Given the description of an element on the screen output the (x, y) to click on. 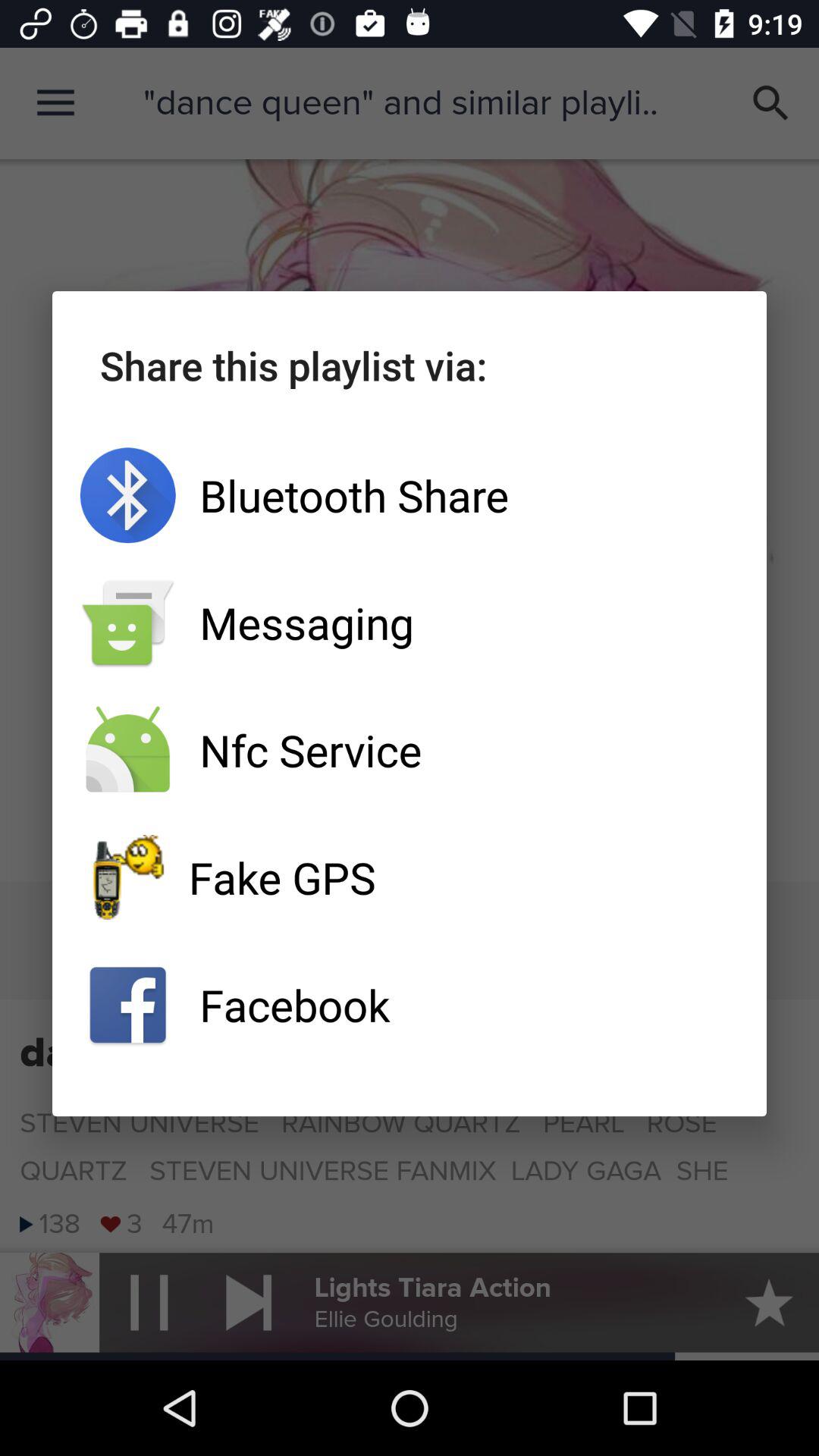
press bluetooth share (409, 495)
